Given the description of an element on the screen output the (x, y) to click on. 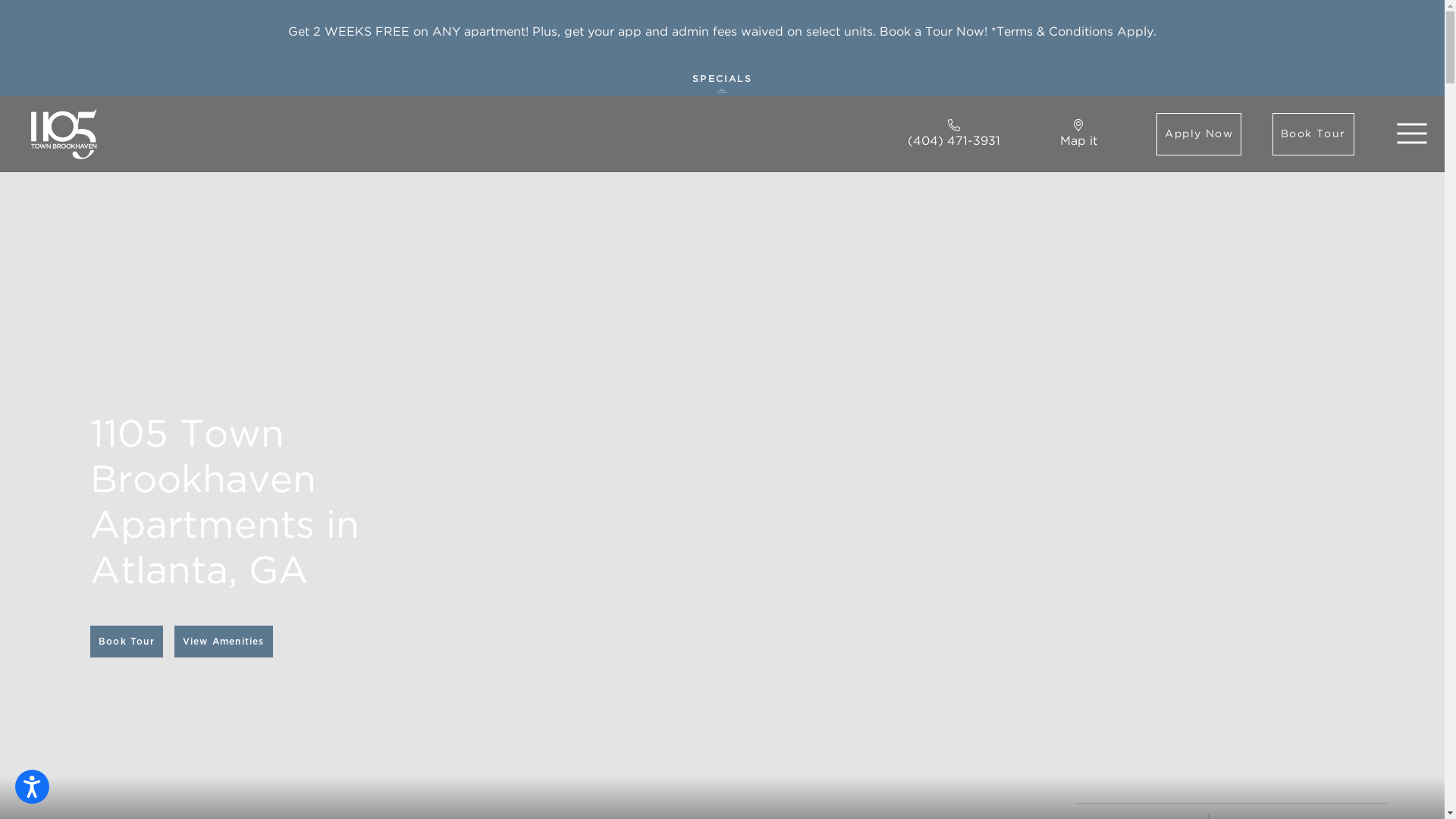
Book Tour Element type: text (1313, 133)
Map it Element type: text (1078, 134)
Open Menu Element type: hover (1411, 133)
Home Element type: hover (63, 133)
SPECIALS Element type: text (722, 80)
Apply Now Element type: text (1198, 133)
View Amenities Element type: text (223, 641)
(404) 471-3931 Element type: text (953, 134)
Book Tour Element type: text (126, 641)
